Given the description of an element on the screen output the (x, y) to click on. 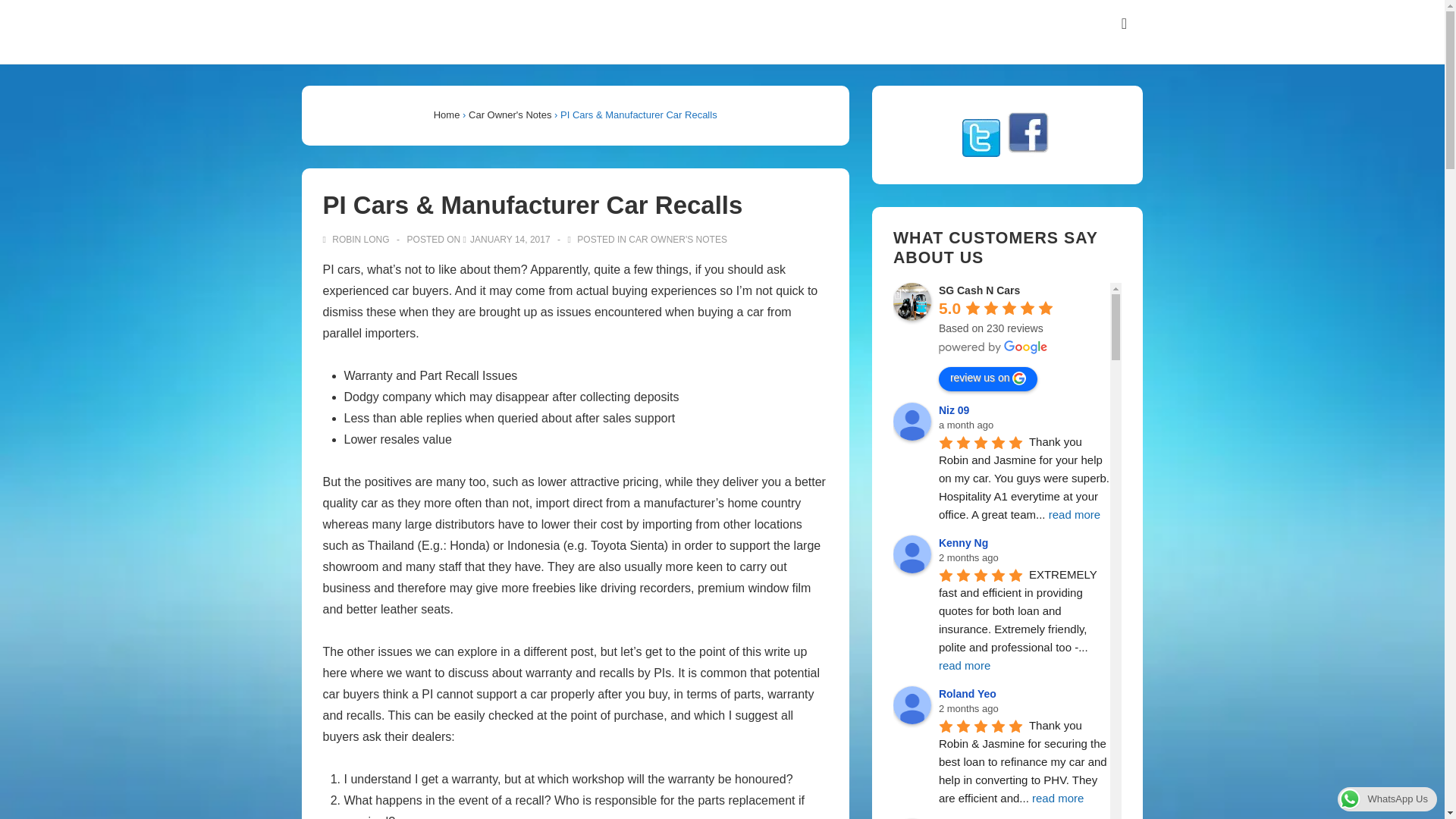
CAR OWNER'S NOTES (677, 239)
Kenny Ng (912, 554)
powered by Google (993, 346)
View all posts by Robin Long (357, 239)
Home (446, 114)
JANUARY 14, 2017 (510, 239)
MENU (1123, 23)
Niz 09 (912, 421)
SG Cash N Cars (912, 301)
Roland Yeo (912, 704)
ROBIN LONG (357, 239)
Car Owner's Notes (509, 114)
